Given the description of an element on the screen output the (x, y) to click on. 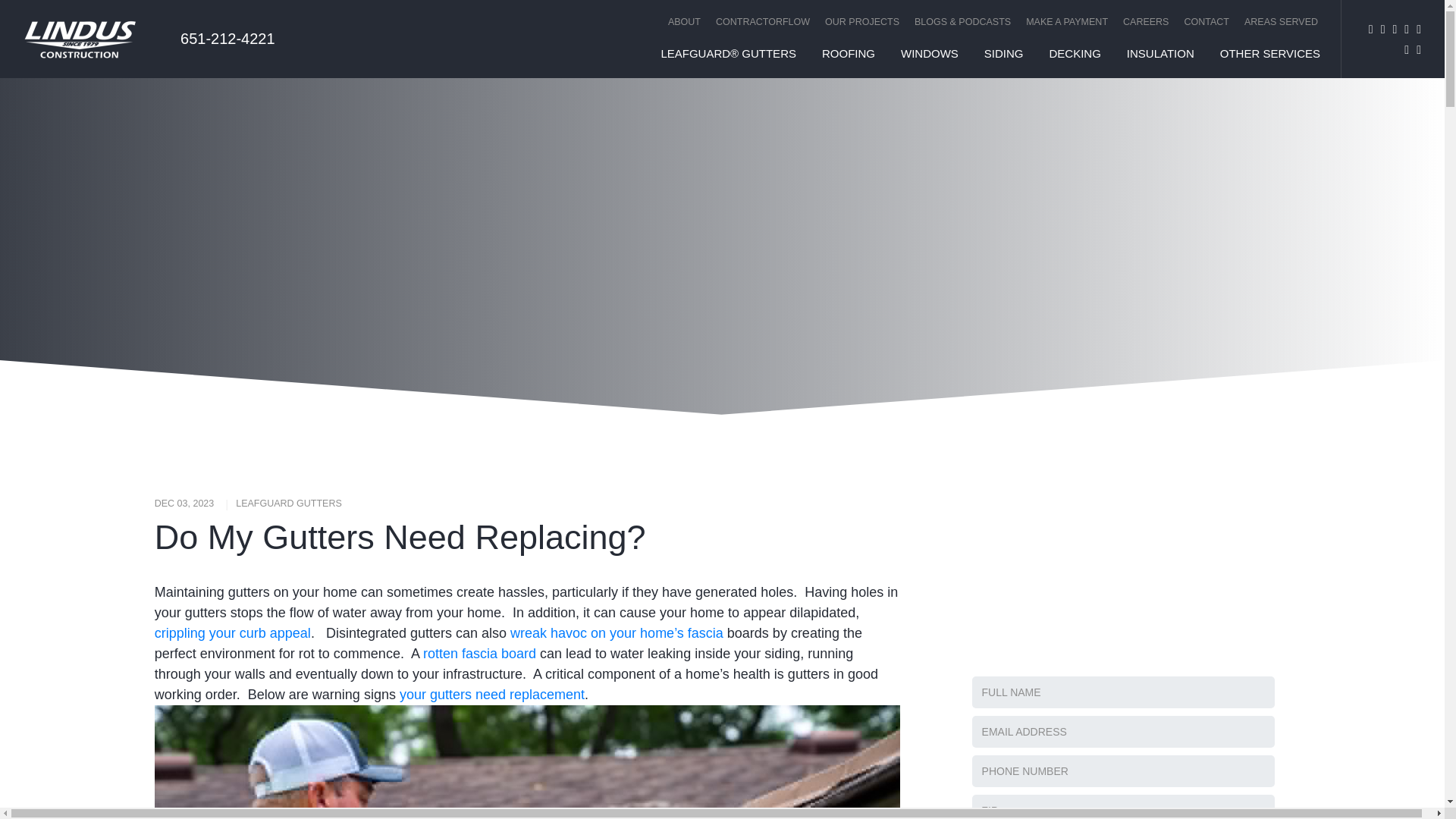
ROOFING (847, 53)
OUR PROJECTS (861, 22)
INSULATION (1160, 53)
MAKE A PAYMENT (1066, 22)
651-212-4221 (226, 38)
CONTACT (1206, 22)
Lindus Construction (89, 39)
DECKING (1074, 53)
SIDING (1004, 53)
CAREERS (1145, 22)
ABOUT (684, 22)
WINDOWS (929, 53)
AREAS SERVED (1276, 22)
CONTRACTORFLOW (761, 22)
